Given the description of an element on the screen output the (x, y) to click on. 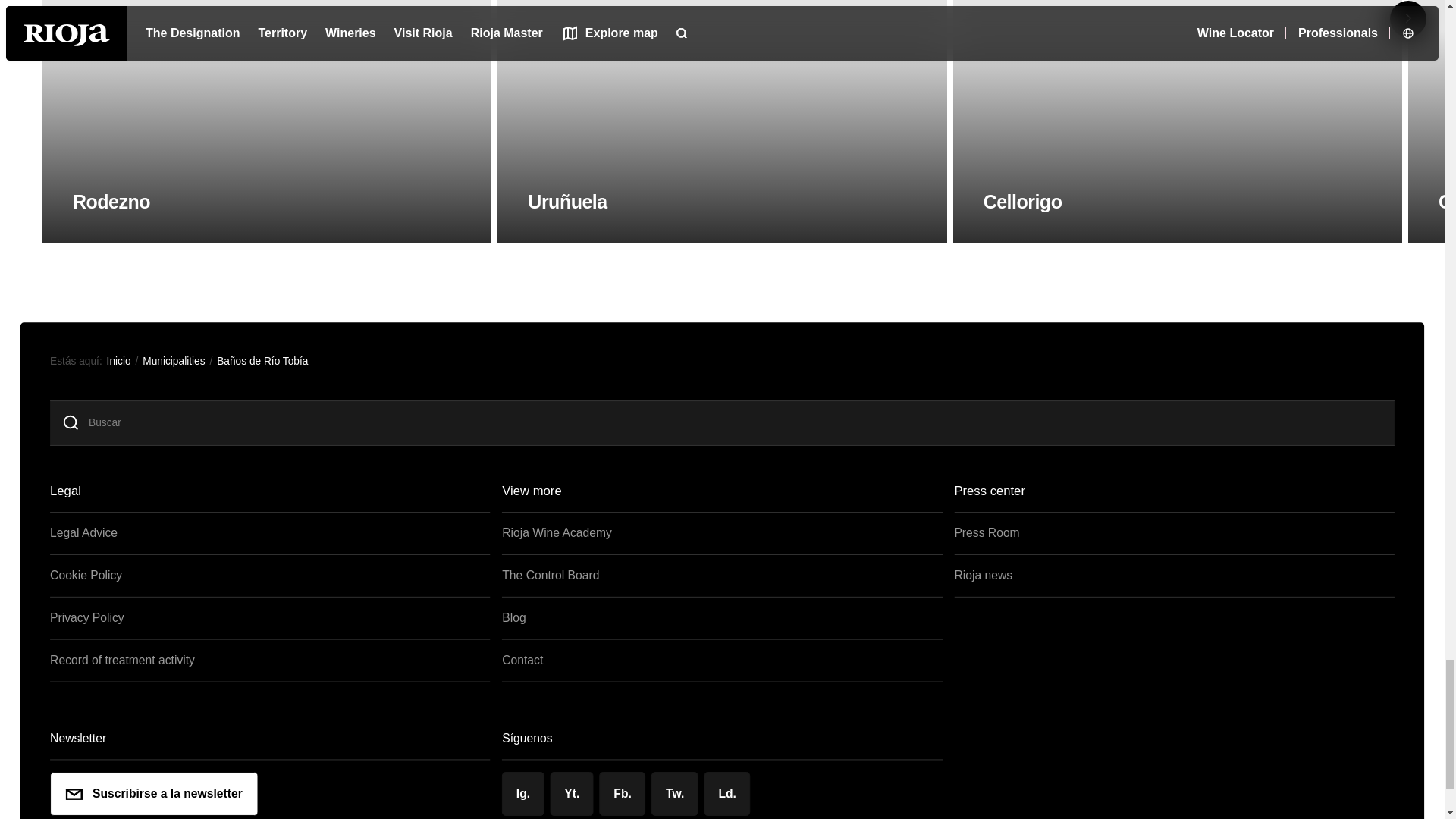
Buscar (739, 423)
